Given the description of an element on the screen output the (x, y) to click on. 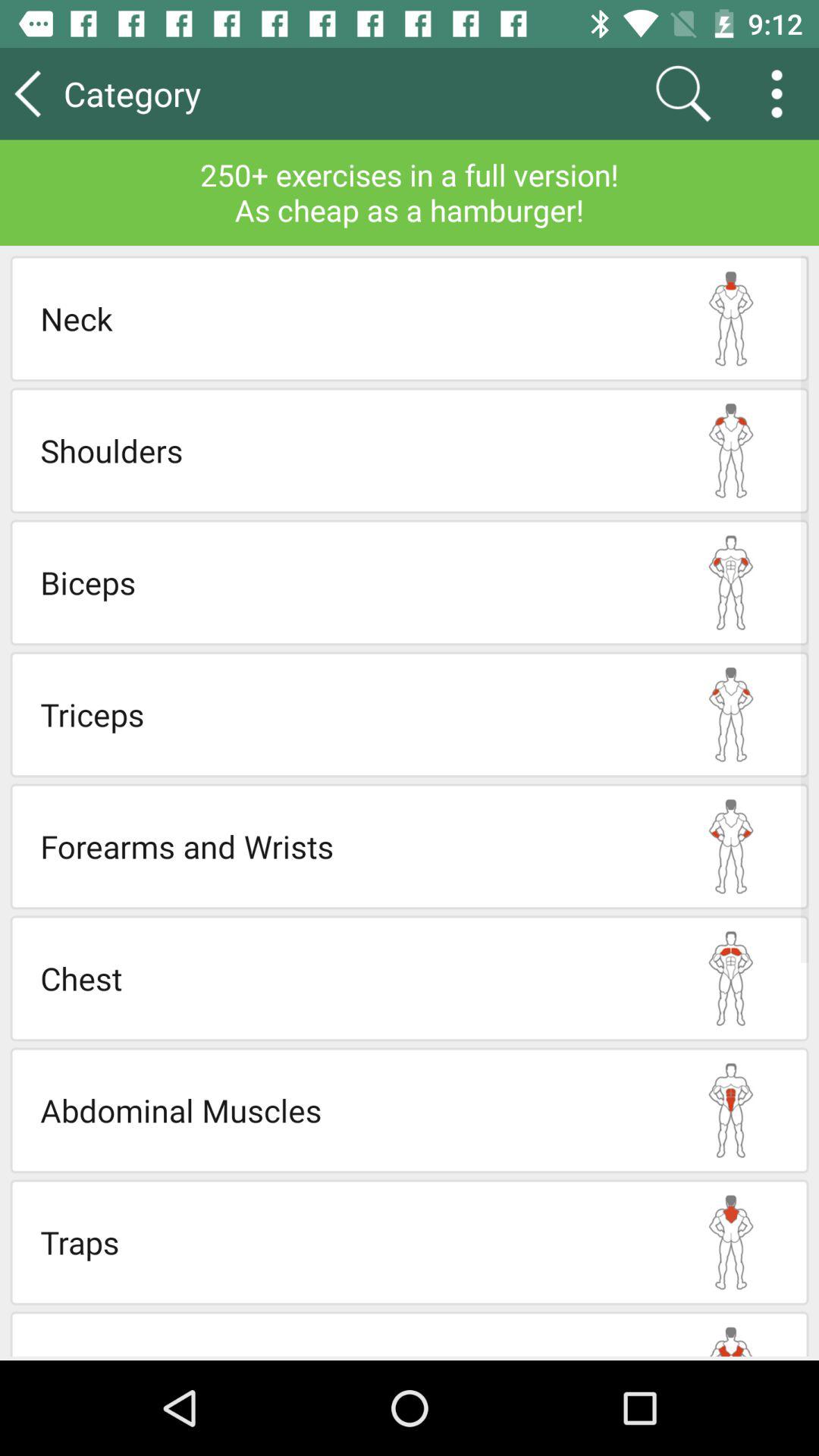
scroll to neck app (346, 318)
